Given the description of an element on the screen output the (x, y) to click on. 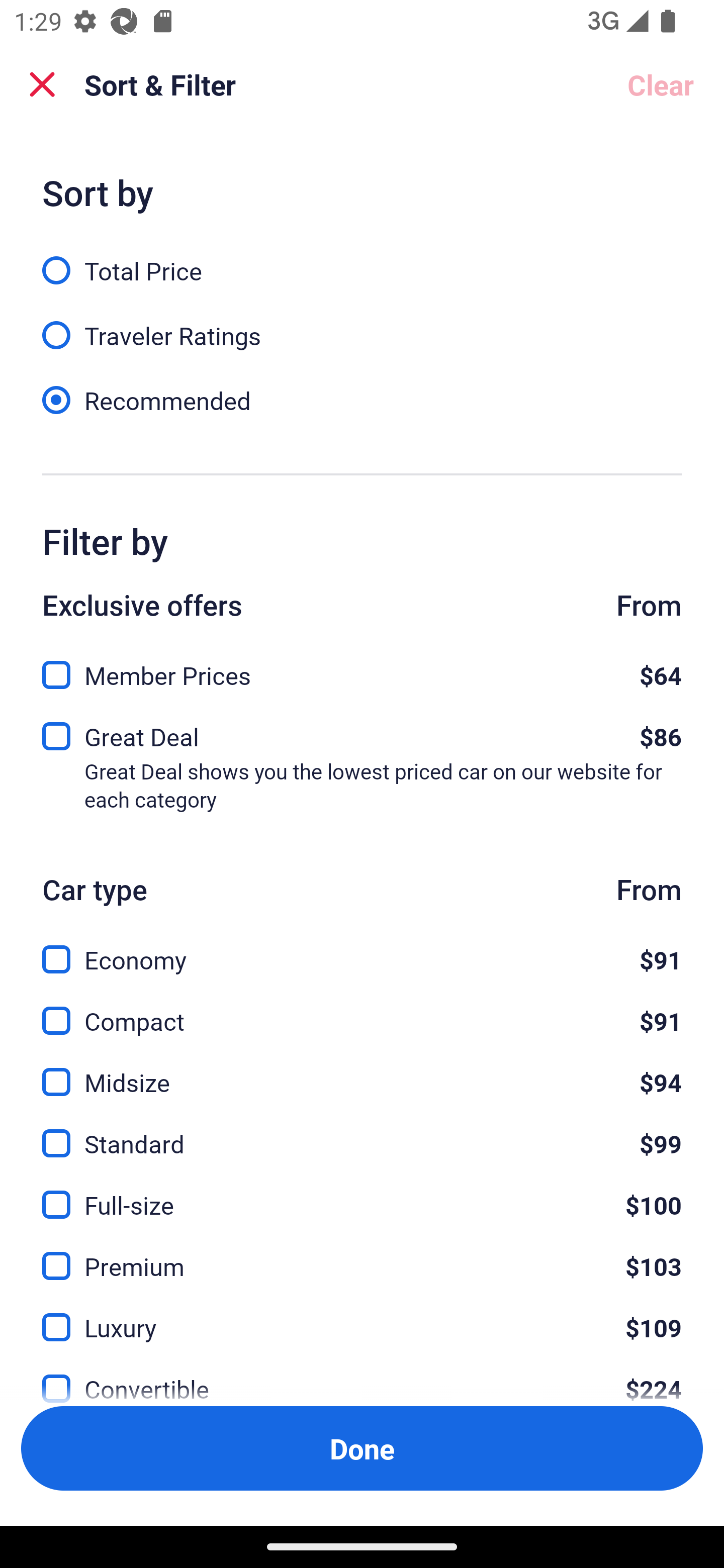
Close Sort and Filter (42, 84)
Clear (660, 84)
Total Price (361, 259)
Traveler Ratings (361, 324)
Member Prices, $64 Member Prices $64 (361, 669)
Economy, $91 Economy $91 (361, 947)
Compact, $91 Compact $91 (361, 1008)
Midsize, $94 Midsize $94 (361, 1070)
Standard, $99 Standard $99 (361, 1132)
Full-size, $100 Full-size $100 (361, 1193)
Premium, $103 Premium $103 (361, 1254)
Luxury, $109 Luxury $109 (361, 1315)
Convertible, $224 Convertible $224 (361, 1376)
Apply and close Sort and Filter Done (361, 1448)
